Given the description of an element on the screen output the (x, y) to click on. 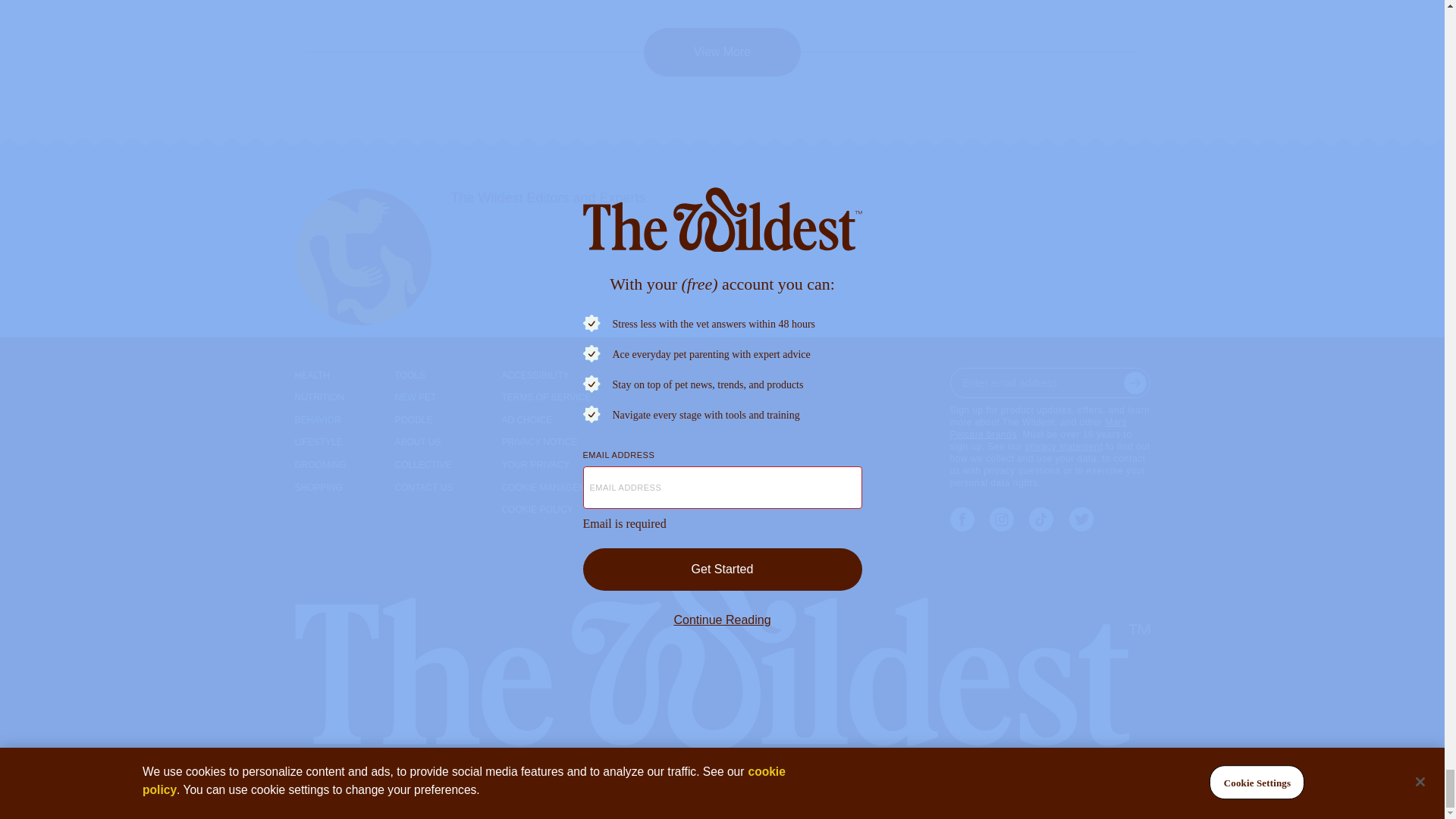
The letter "W" from the Wildest logo (577, 779)
